Given the description of an element on the screen output the (x, y) to click on. 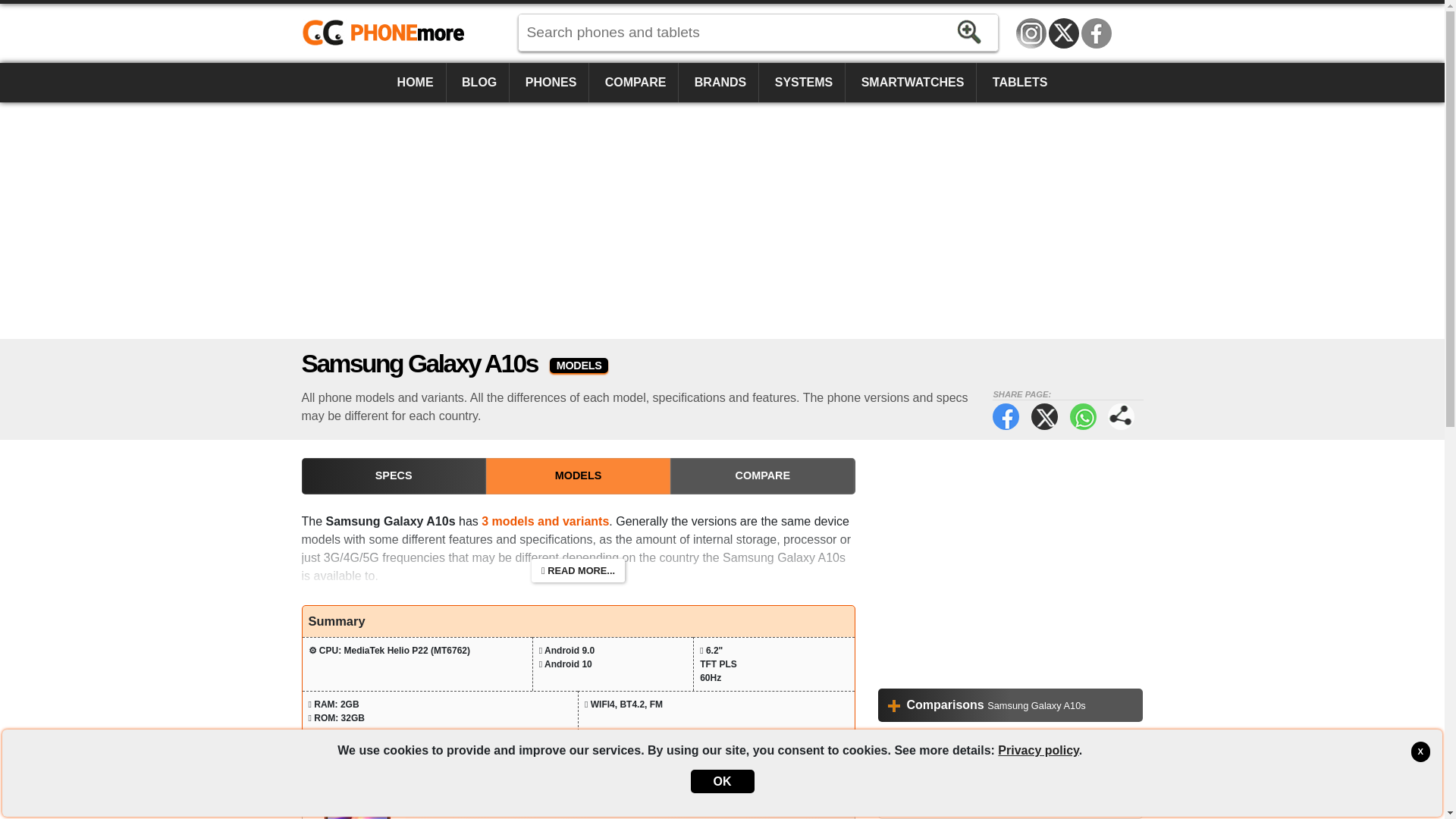
MODELS (577, 475)
BRANDS (720, 82)
Instagram (1031, 33)
Advertisement (1009, 563)
Share page: (1121, 416)
WhatsApp (1083, 416)
Search (969, 32)
TABLETS (1019, 82)
SYSTEMS (803, 82)
SPECS (393, 475)
